Given the description of an element on the screen output the (x, y) to click on. 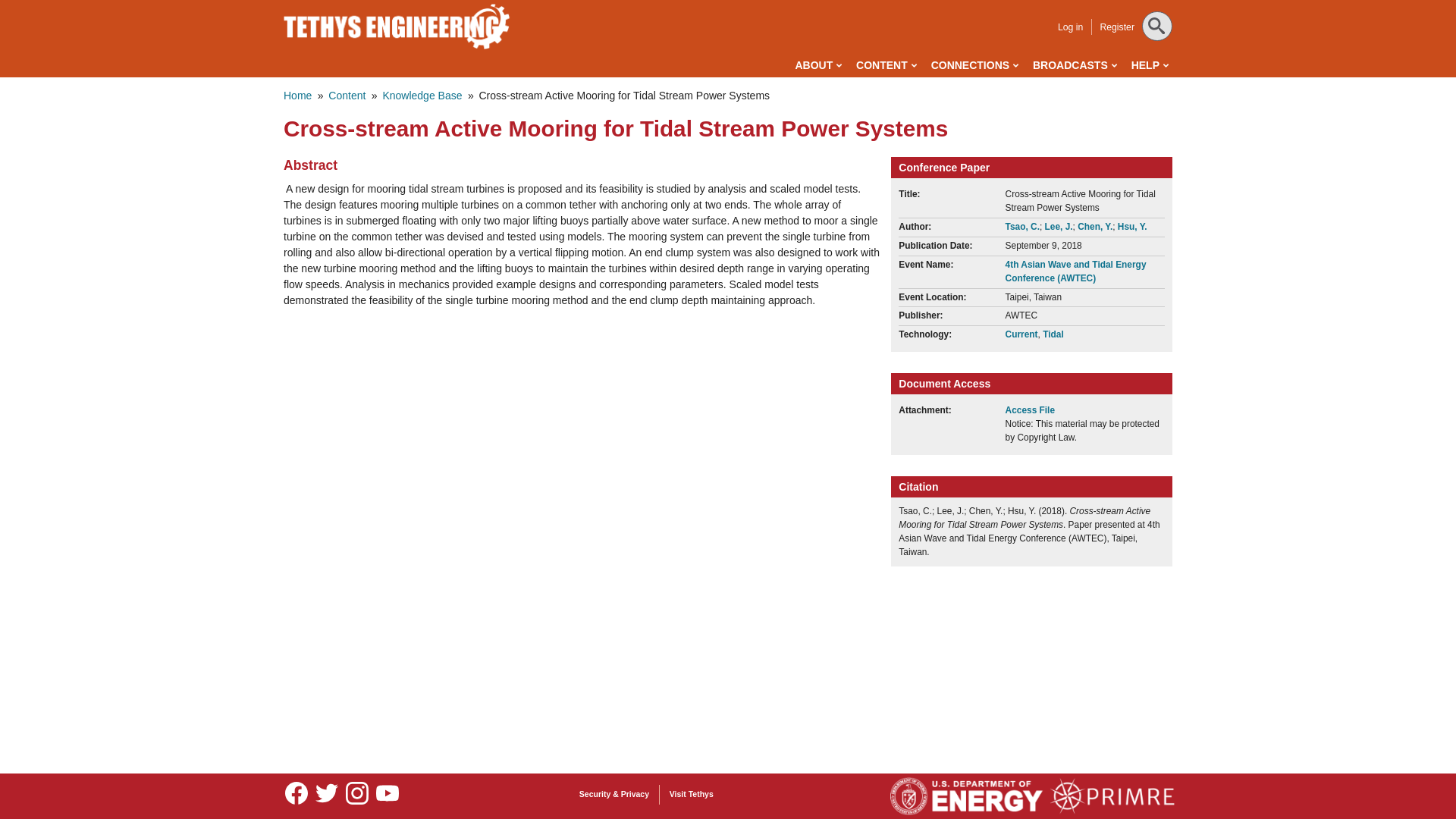
Chen, Y. (1094, 226)
Log in (1070, 27)
Tidal (1053, 334)
Hsu, Y. (1132, 226)
Access File (1038, 409)
Content (347, 95)
BROADCASTS (1074, 65)
Register (1116, 27)
Skip to main content (659, 3)
Lee, J. (1059, 226)
